Given the description of an element on the screen output the (x, y) to click on. 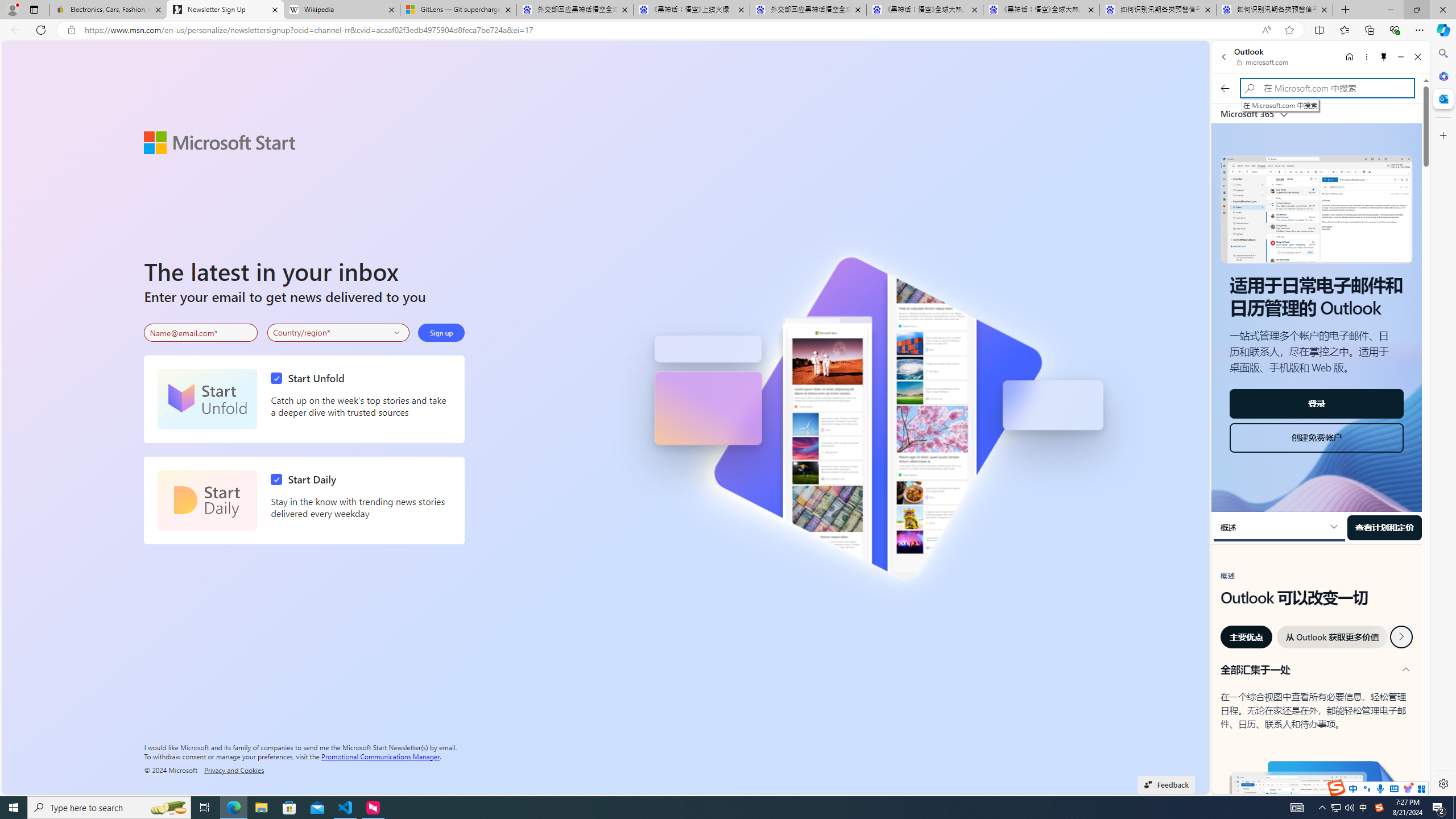
Sign up (441, 332)
Electronics, Cars, Fashion, Collectibles & More | eBay (108, 9)
New Tab (1346, 9)
Start Unfold (207, 399)
Microsoft Start (219, 142)
App bar (728, 29)
Minimize (1401, 56)
View site information (70, 29)
